Given the description of an element on the screen output the (x, y) to click on. 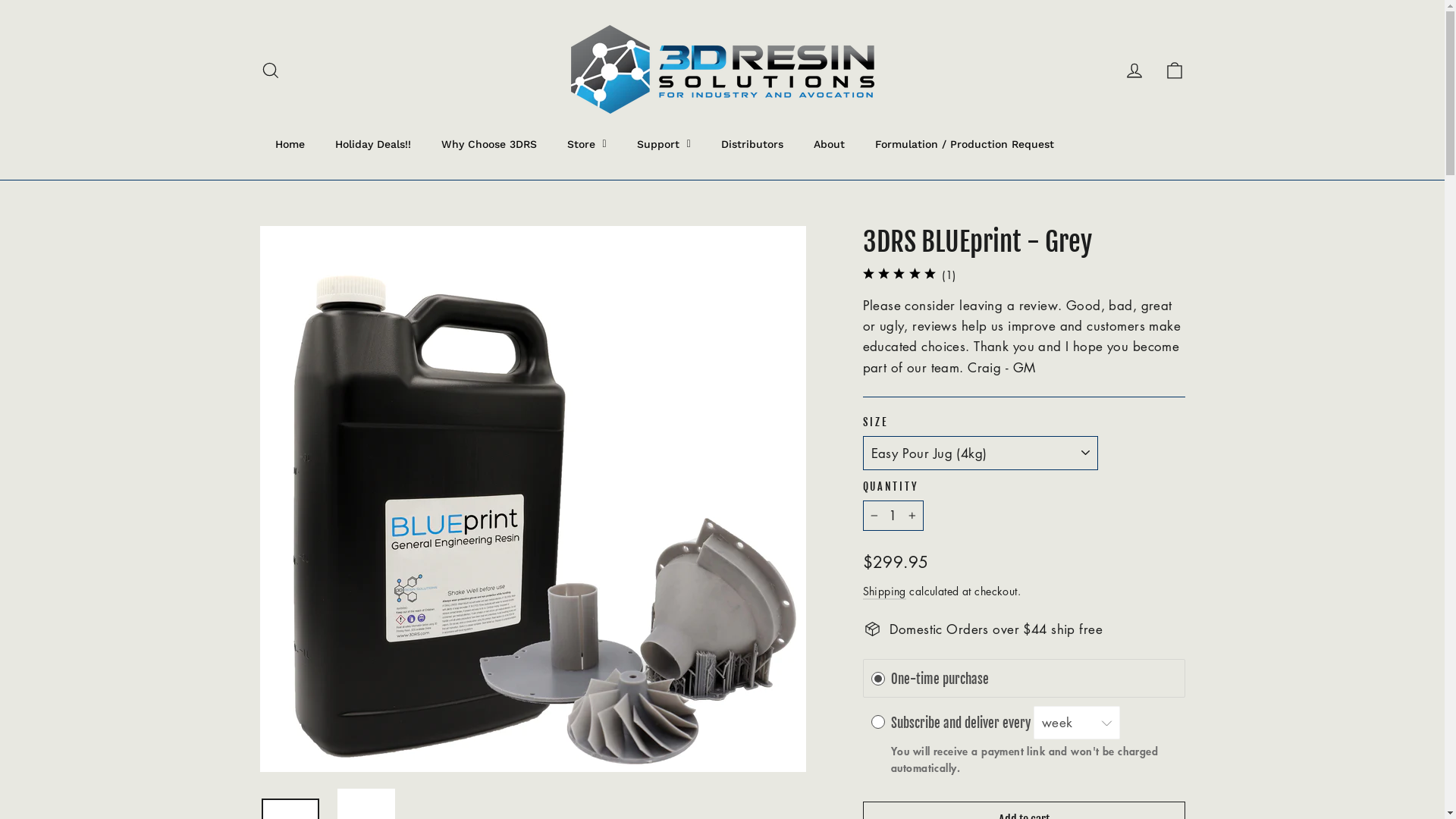
Formulation / Production Request Element type: text (964, 144)
Support Element type: text (663, 144)
Why Choose 3DRS Element type: text (489, 144)
Log in Element type: text (1134, 69)
Shipping Element type: text (884, 591)
Store Element type: text (586, 144)
Cart Element type: text (1173, 69)
Holiday Deals!! Element type: text (373, 144)
Distributors Element type: text (752, 144)
Search Element type: text (269, 69)
Skip to content Element type: text (0, 0)
1
total reviews Element type: text (948, 274)
Home Element type: text (289, 144)
+ Element type: text (911, 515)
About Element type: text (828, 144)
